Given the description of an element on the screen output the (x, y) to click on. 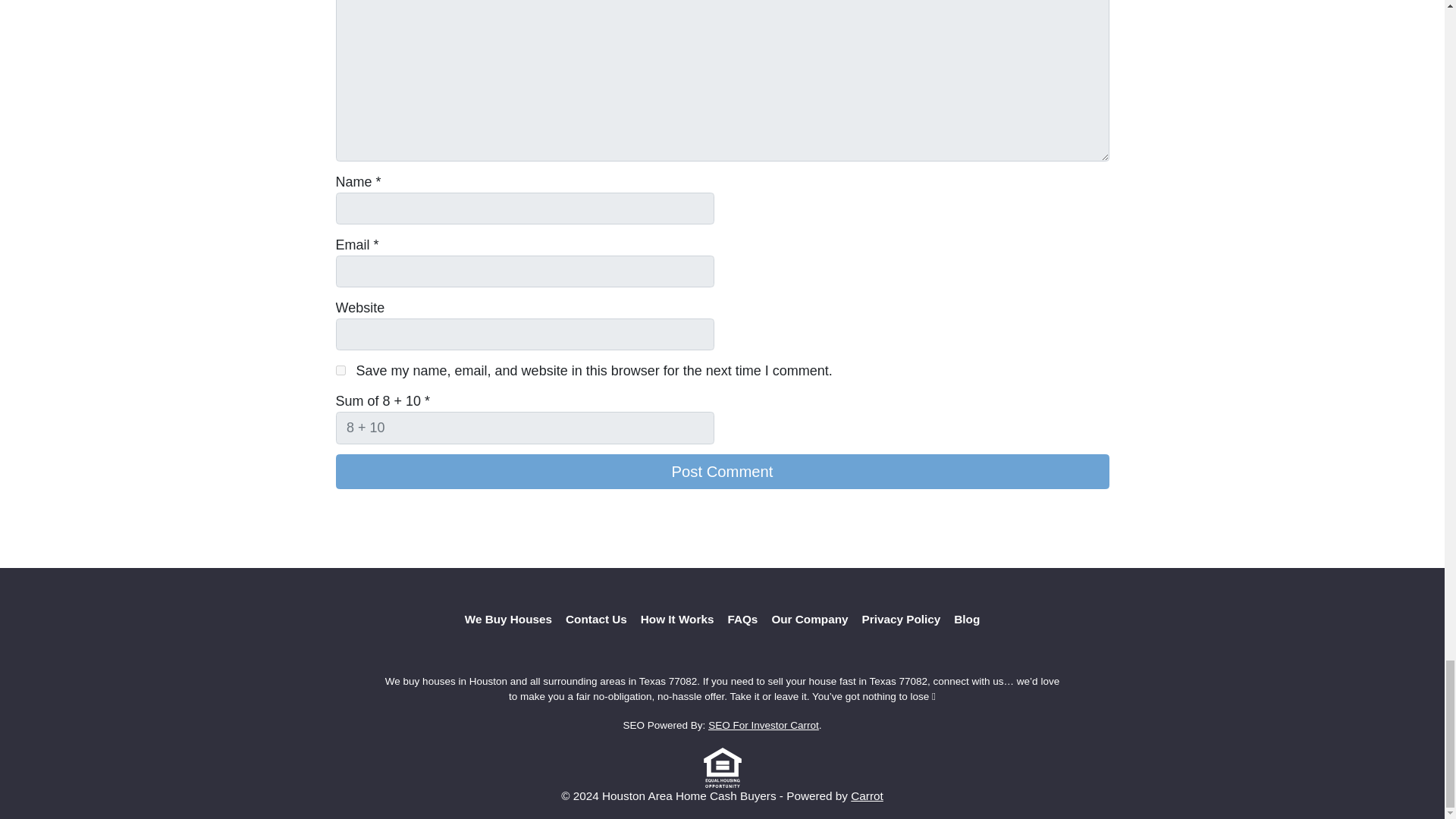
We Buy Houses (508, 620)
Post Comment (721, 471)
Post Comment (721, 471)
yes (339, 370)
